Given the description of an element on the screen output the (x, y) to click on. 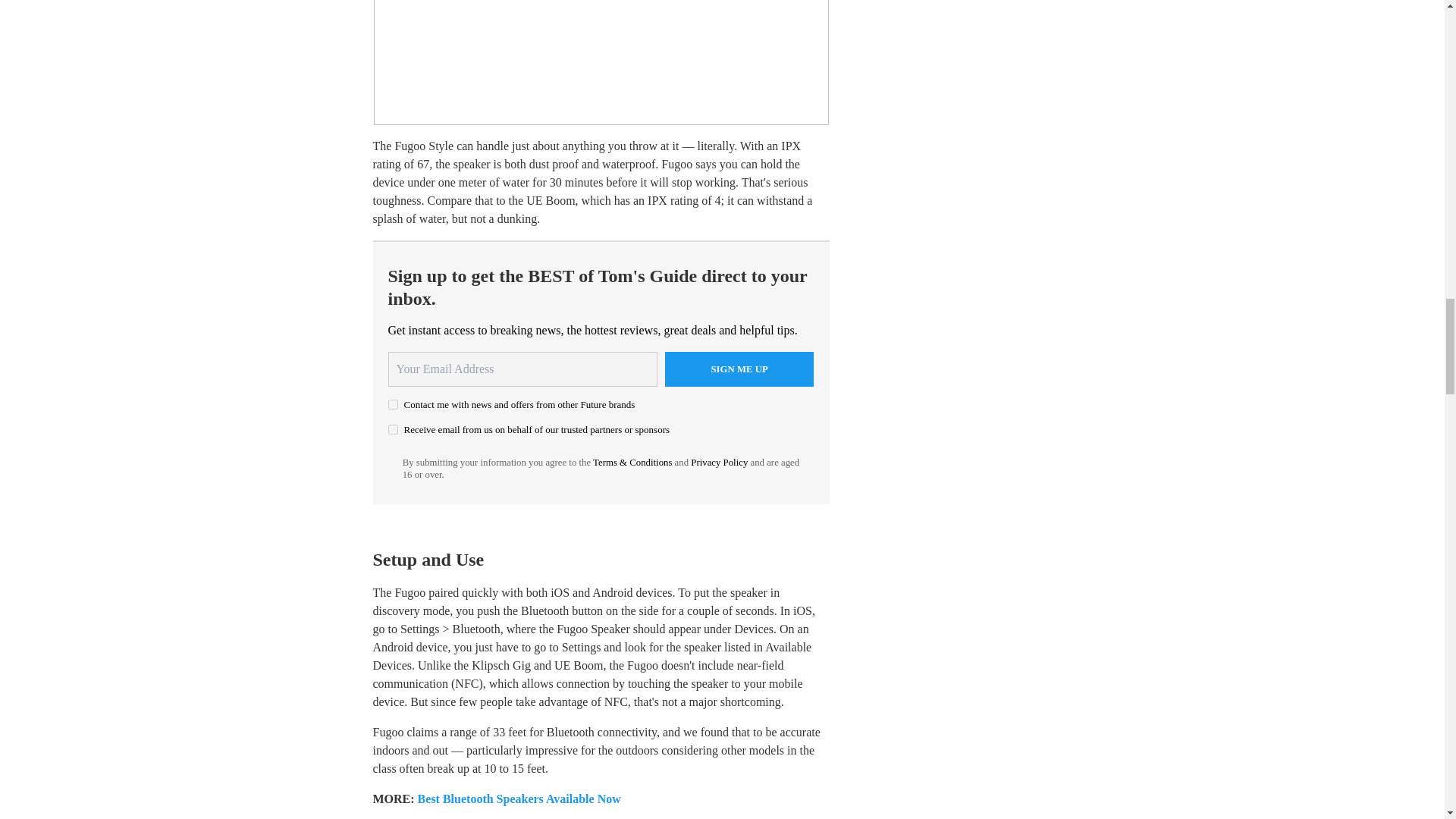
on (392, 404)
Sign me up (739, 369)
on (392, 429)
